Given the description of an element on the screen output the (x, y) to click on. 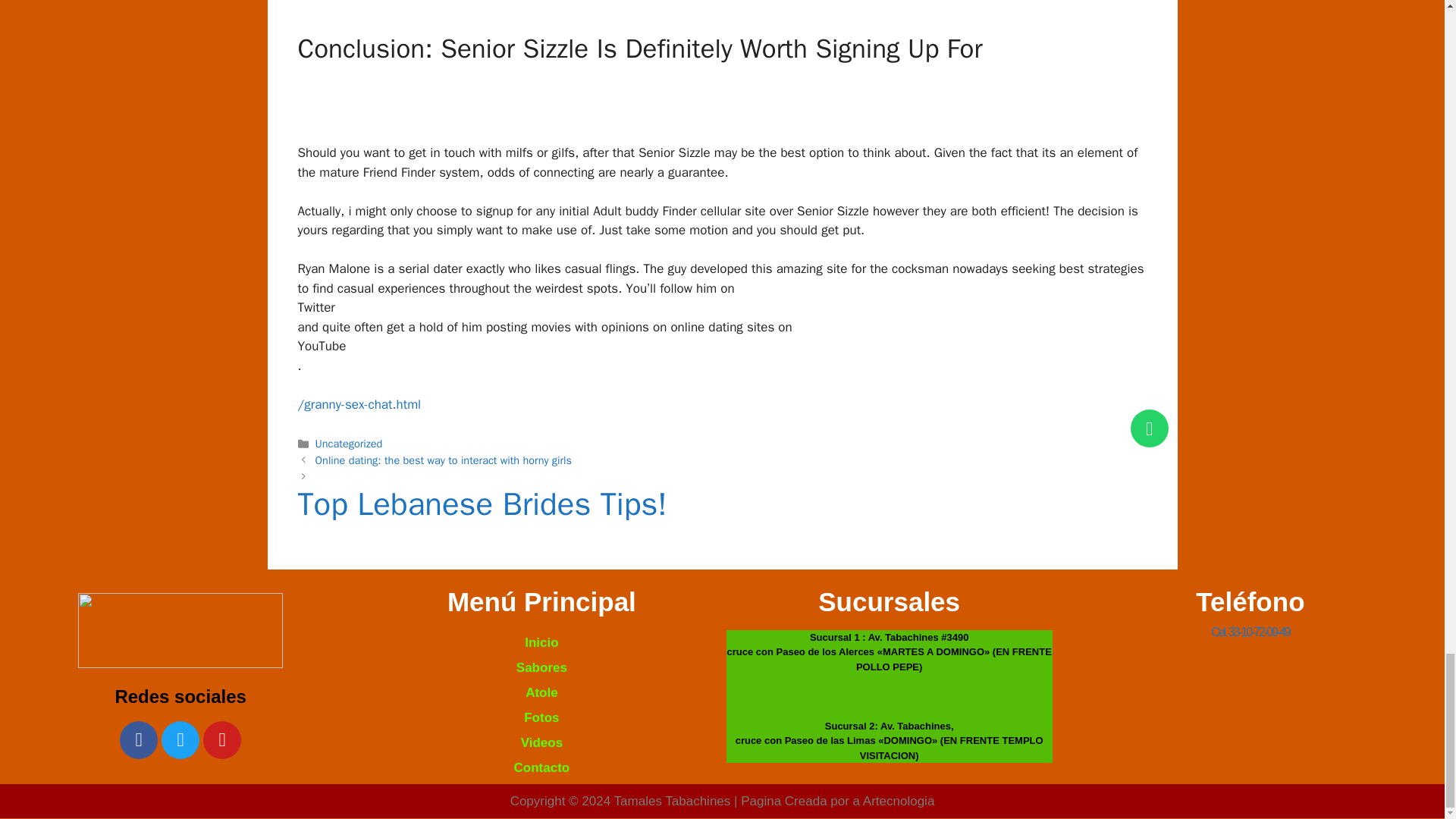
Videos (541, 742)
Inicio (541, 642)
Uncategorized (348, 443)
Online dating: the best way to interact with horny girls (443, 459)
Fotos (541, 717)
Artecnologia (898, 800)
Anterior (443, 459)
Sabores (541, 667)
Atole (541, 692)
Siguiente (722, 511)
